Given the description of an element on the screen output the (x, y) to click on. 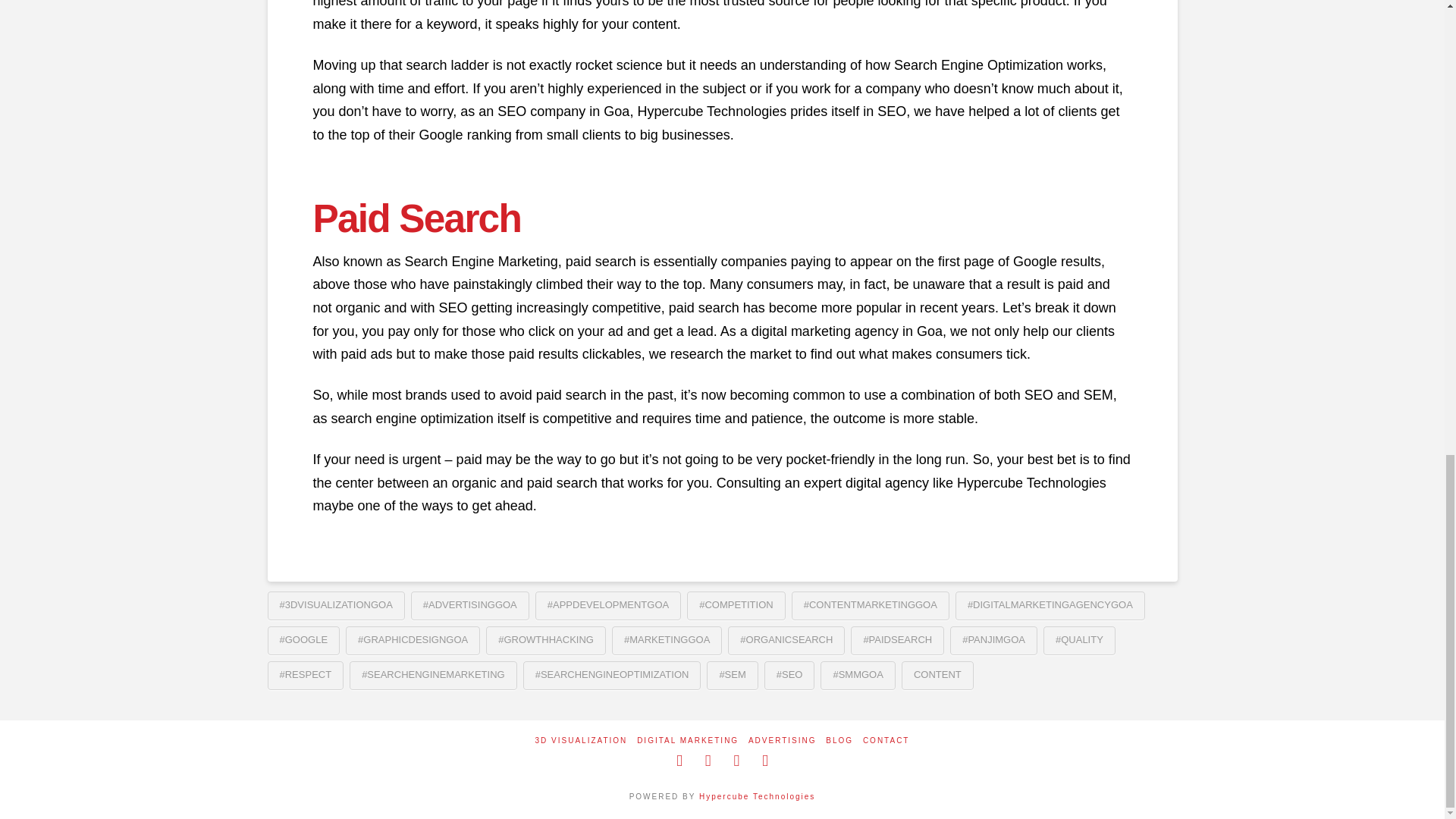
Hypercube Technologies (756, 796)
LinkedIn (736, 760)
DIGITAL MARKETING (687, 740)
CONTENT (937, 675)
3D VISUALIZATION (581, 740)
ADVERTISING (782, 740)
BLOG (839, 740)
Facebook (679, 760)
Twitter (707, 760)
Pinterest (764, 760)
CONTACT (886, 740)
